Given the description of an element on the screen output the (x, y) to click on. 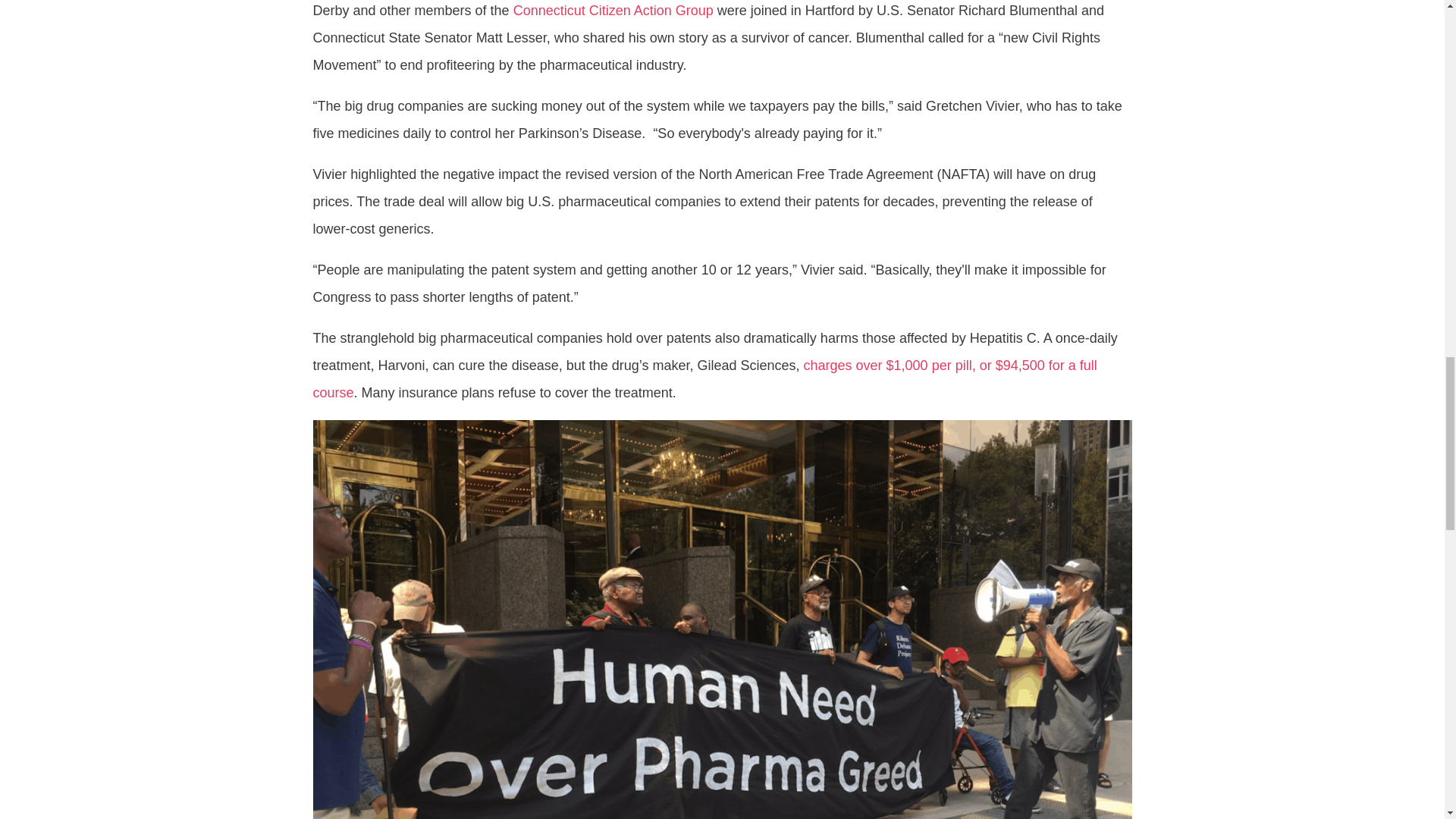
Connecticut Citizen Action Group (613, 10)
